Given the description of an element on the screen output the (x, y) to click on. 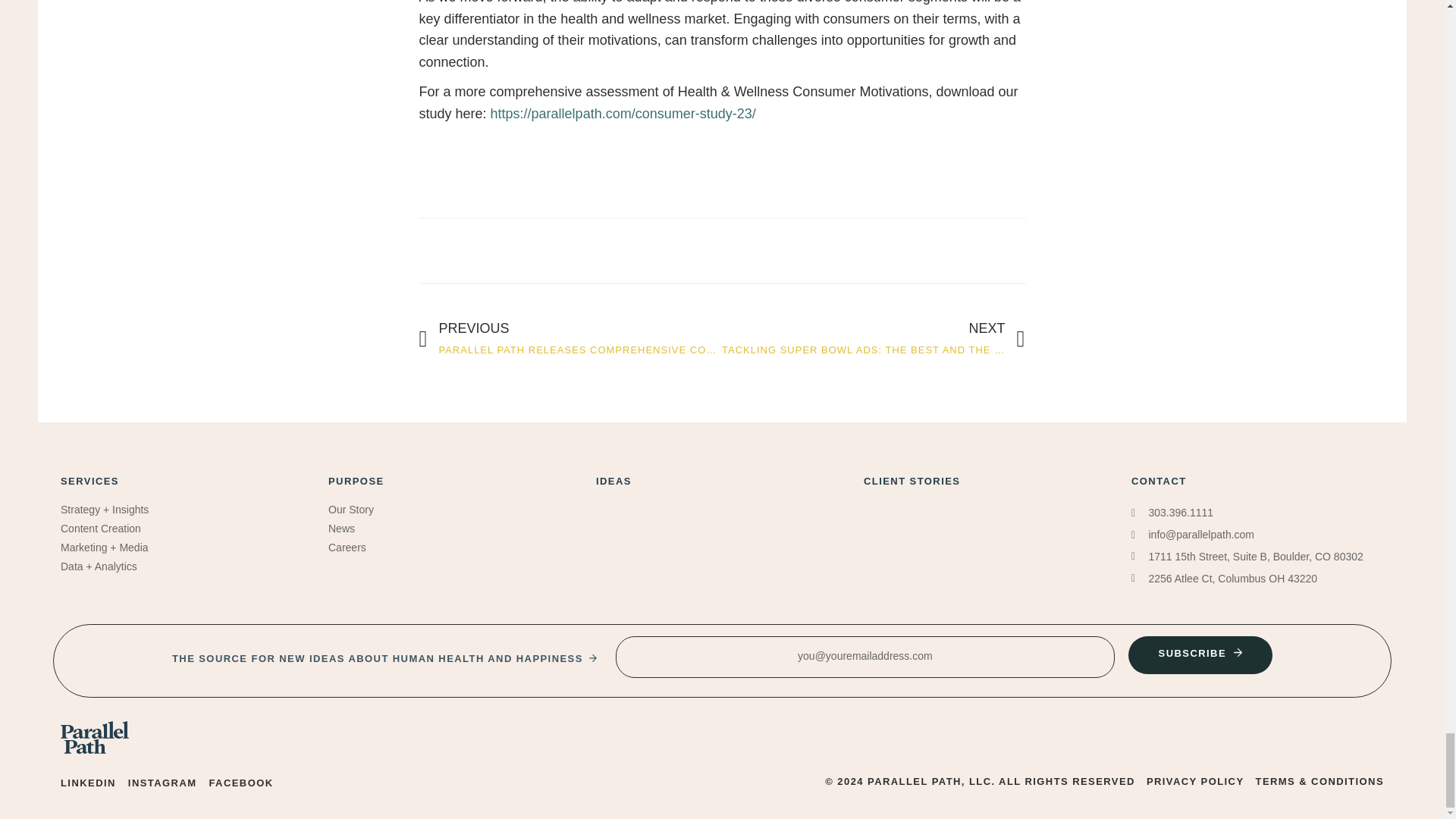
SERVICES (873, 339)
Content Creation (90, 480)
